Given the description of an element on the screen output the (x, y) to click on. 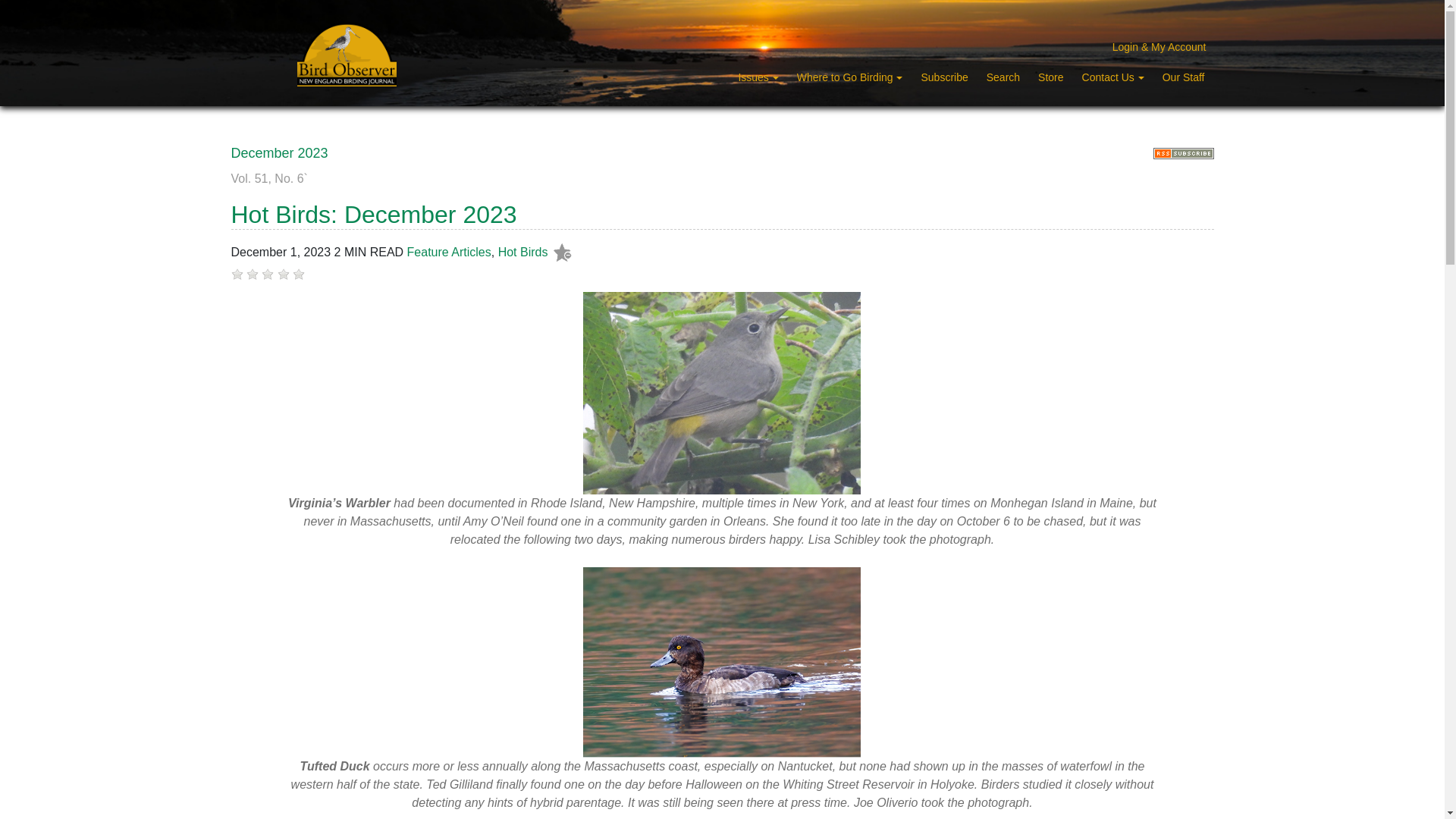
You must be logged in to bookmark (562, 252)
Bird Observer (346, 54)
Good (283, 274)
Fair (267, 274)
Excellent (298, 274)
Very Bad (236, 274)
Poor (252, 274)
